Given the description of an element on the screen output the (x, y) to click on. 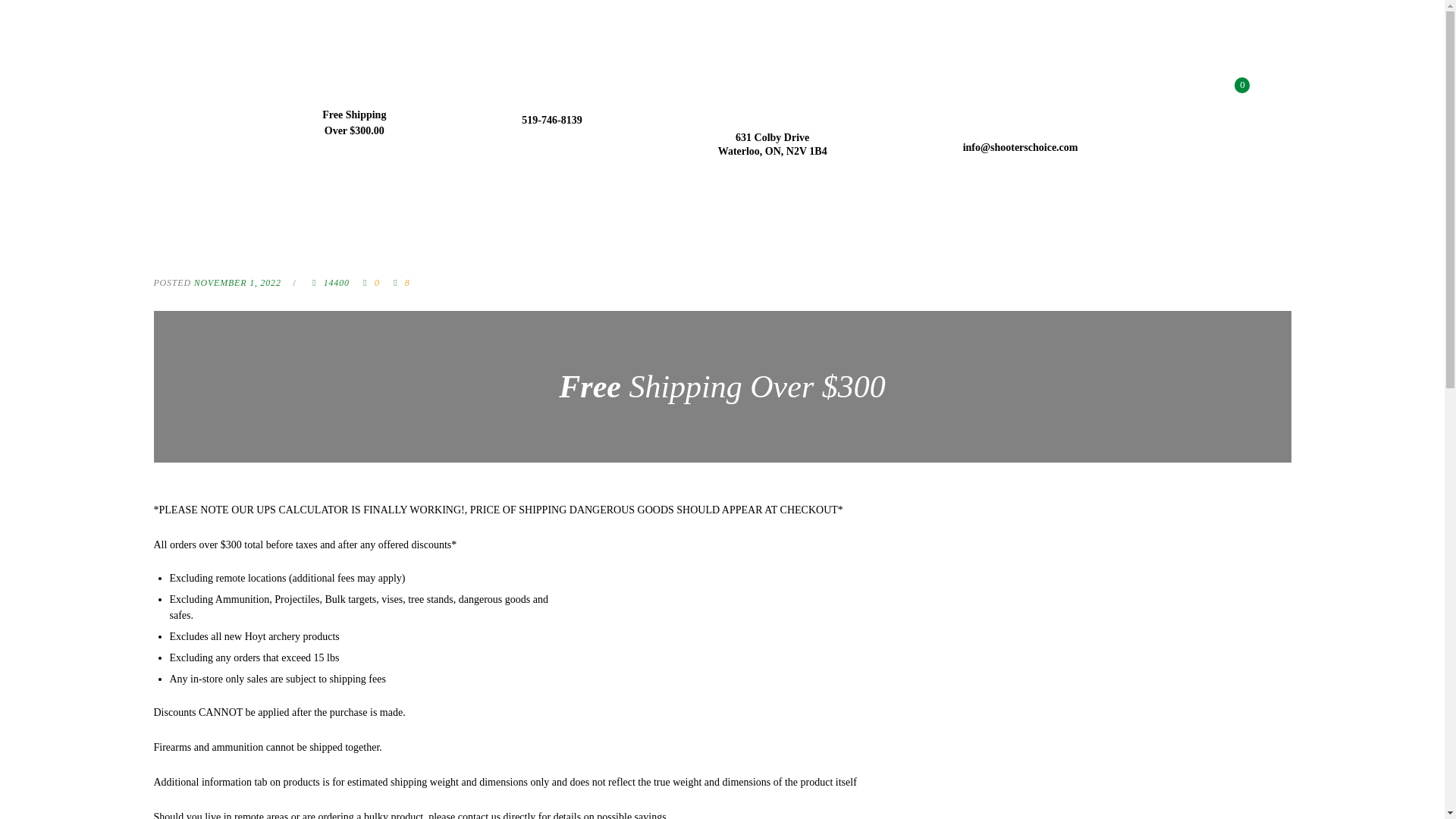
Views - 14400 (328, 283)
519-746-8139 (550, 120)
Like (398, 283)
Comments - 0 (369, 283)
